Given the description of an element on the screen output the (x, y) to click on. 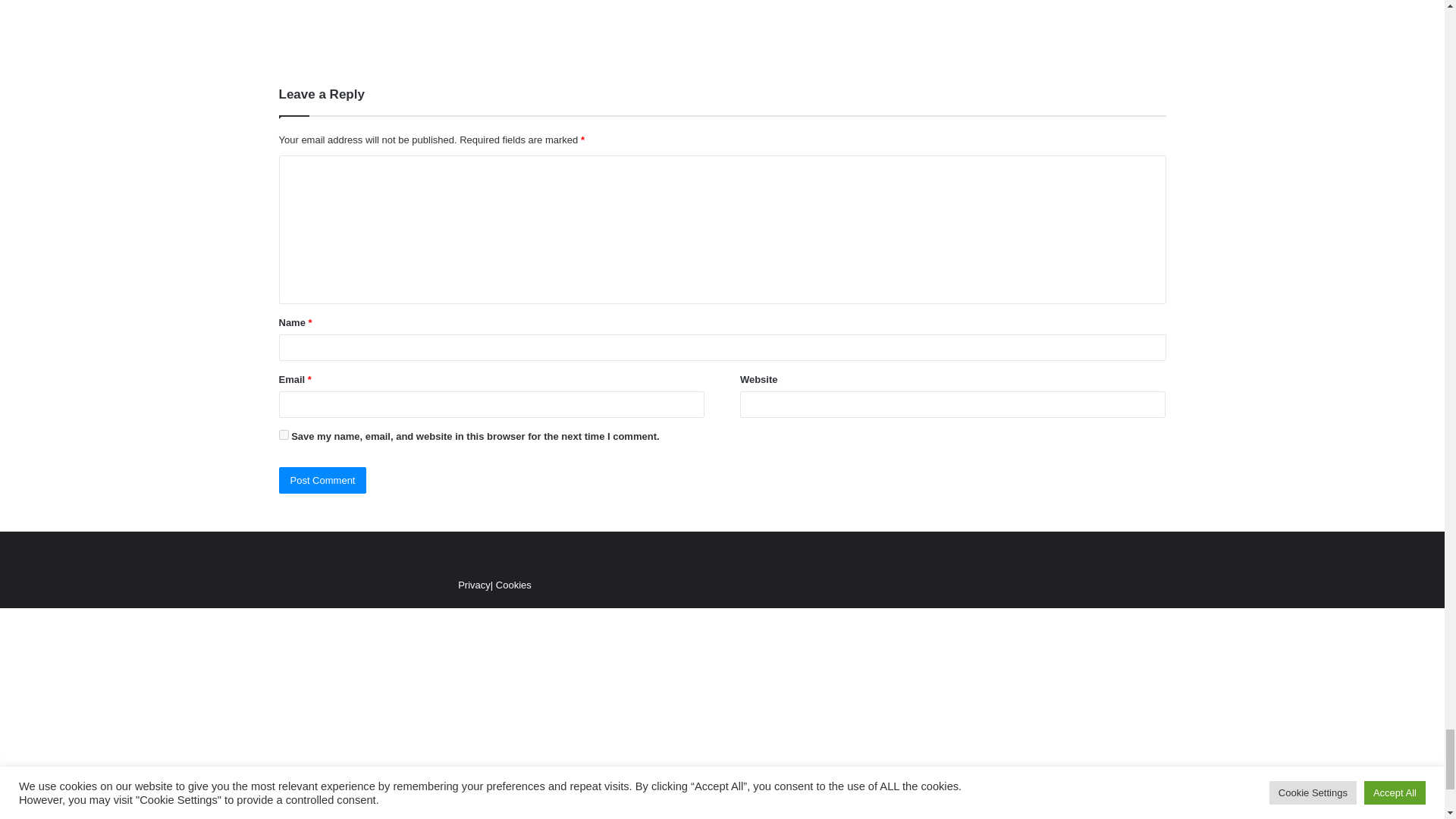
yes (283, 434)
Post Comment (322, 479)
